Given the description of an element on the screen output the (x, y) to click on. 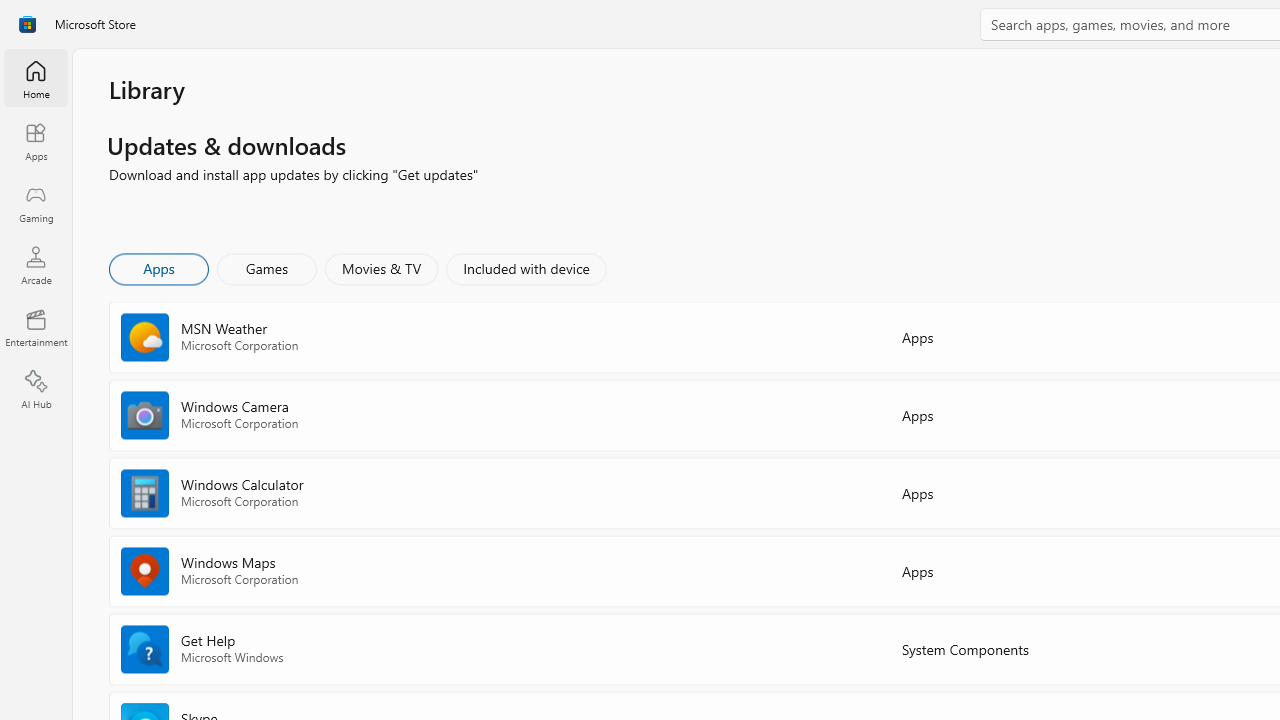
Included with device (525, 268)
Movies & TV (381, 268)
Games (267, 268)
